Given the description of an element on the screen output the (x, y) to click on. 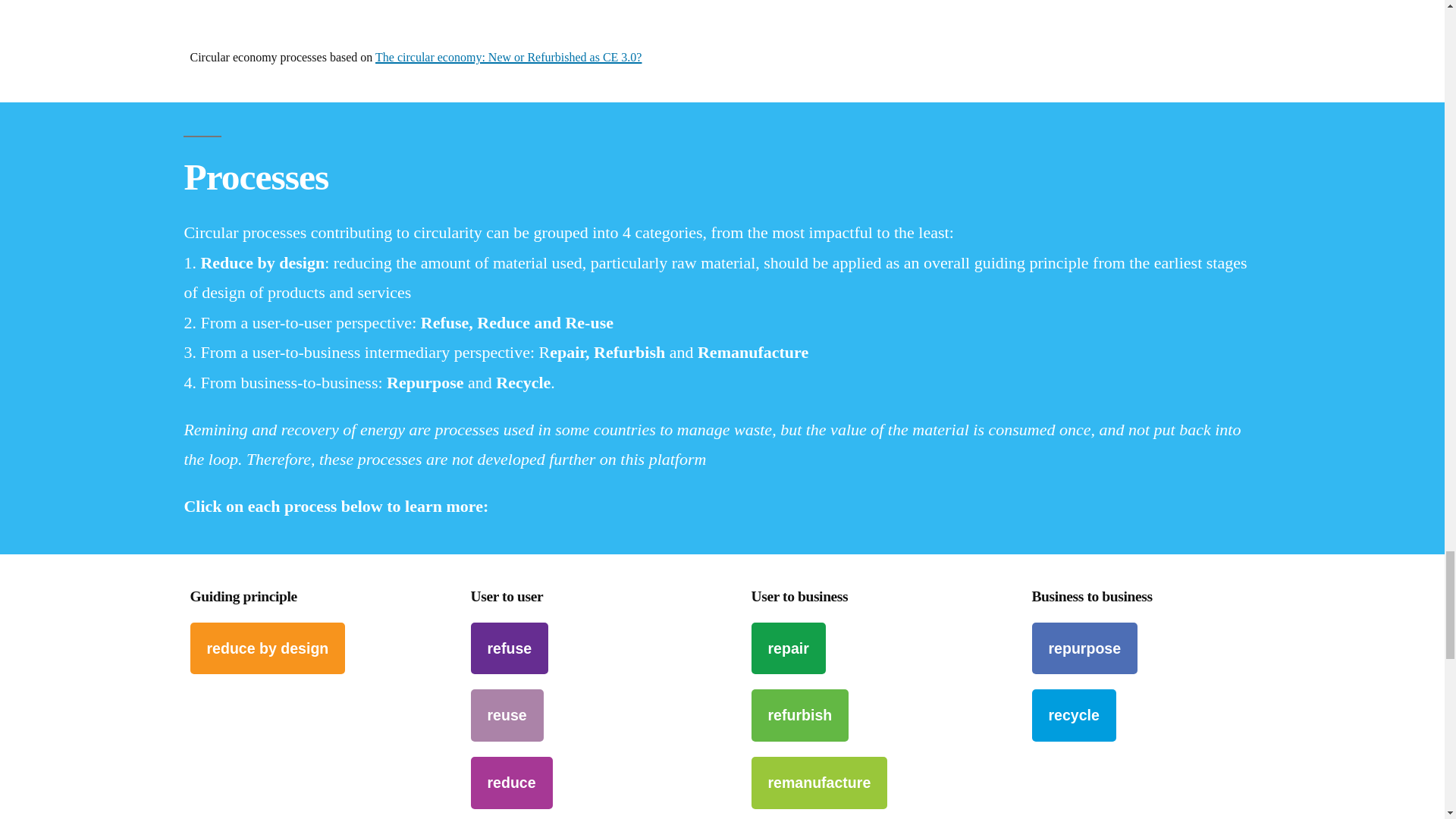
reuse (506, 715)
The circular economy: New or Refurbished as CE 3.0? (508, 56)
remanufacture (818, 782)
reduce by design (267, 648)
reduce (510, 782)
repair (788, 648)
refuse (509, 648)
repurpose (1083, 648)
refurbish (799, 715)
recycle (1072, 715)
